Given the description of an element on the screen output the (x, y) to click on. 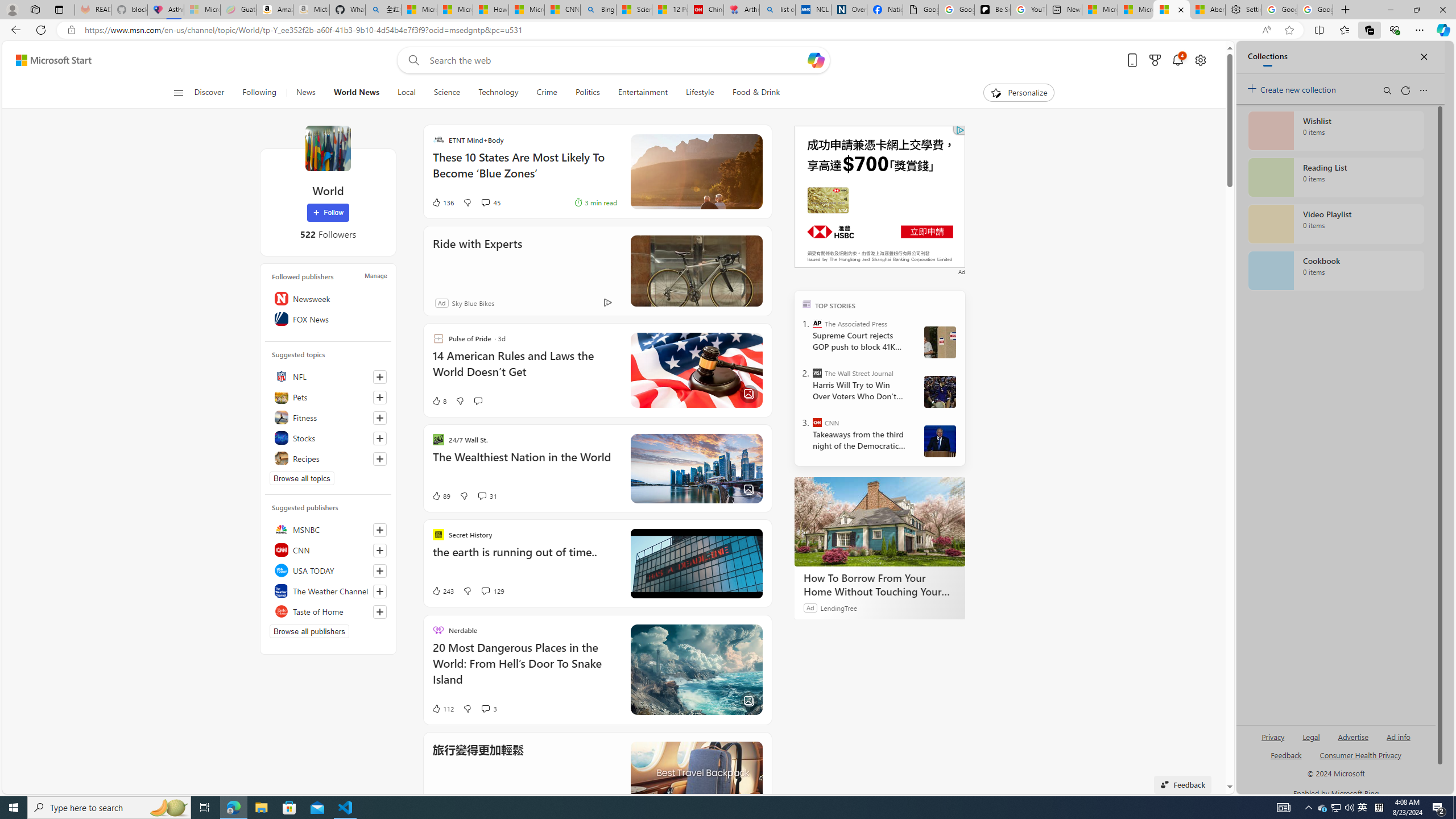
Enter your search term (617, 59)
AutomationID: canvas (879, 196)
